Given the description of an element on the screen output the (x, y) to click on. 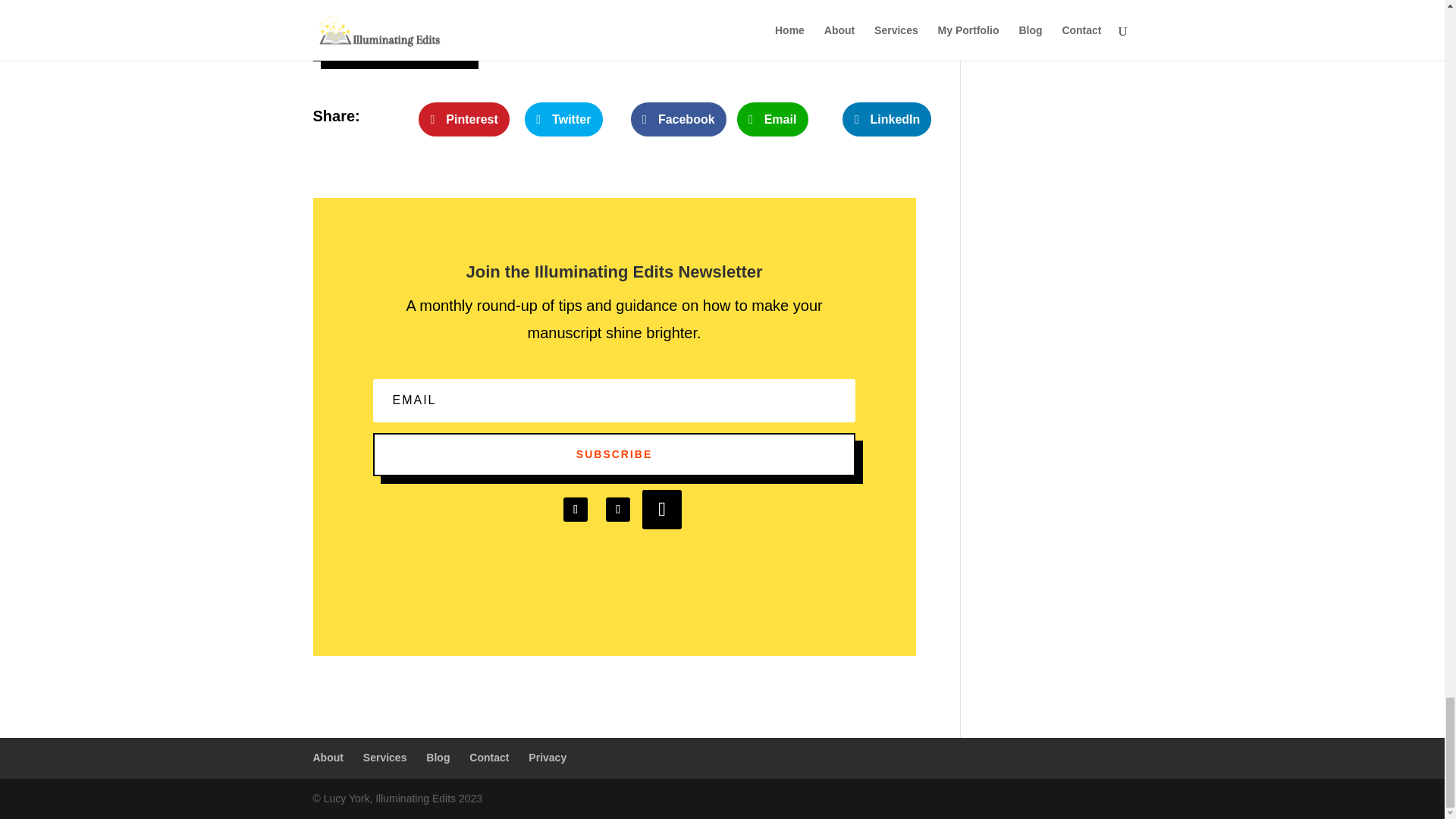
Follow on LinkedIn (575, 509)
LinkedIn (887, 119)
About (327, 757)
GET IN TOUCH (391, 40)
Pinterest (464, 119)
Twitter (563, 119)
SUBSCRIBE (614, 454)
Services (384, 757)
Facebook (678, 119)
Email (772, 119)
